Given the description of an element on the screen output the (x, y) to click on. 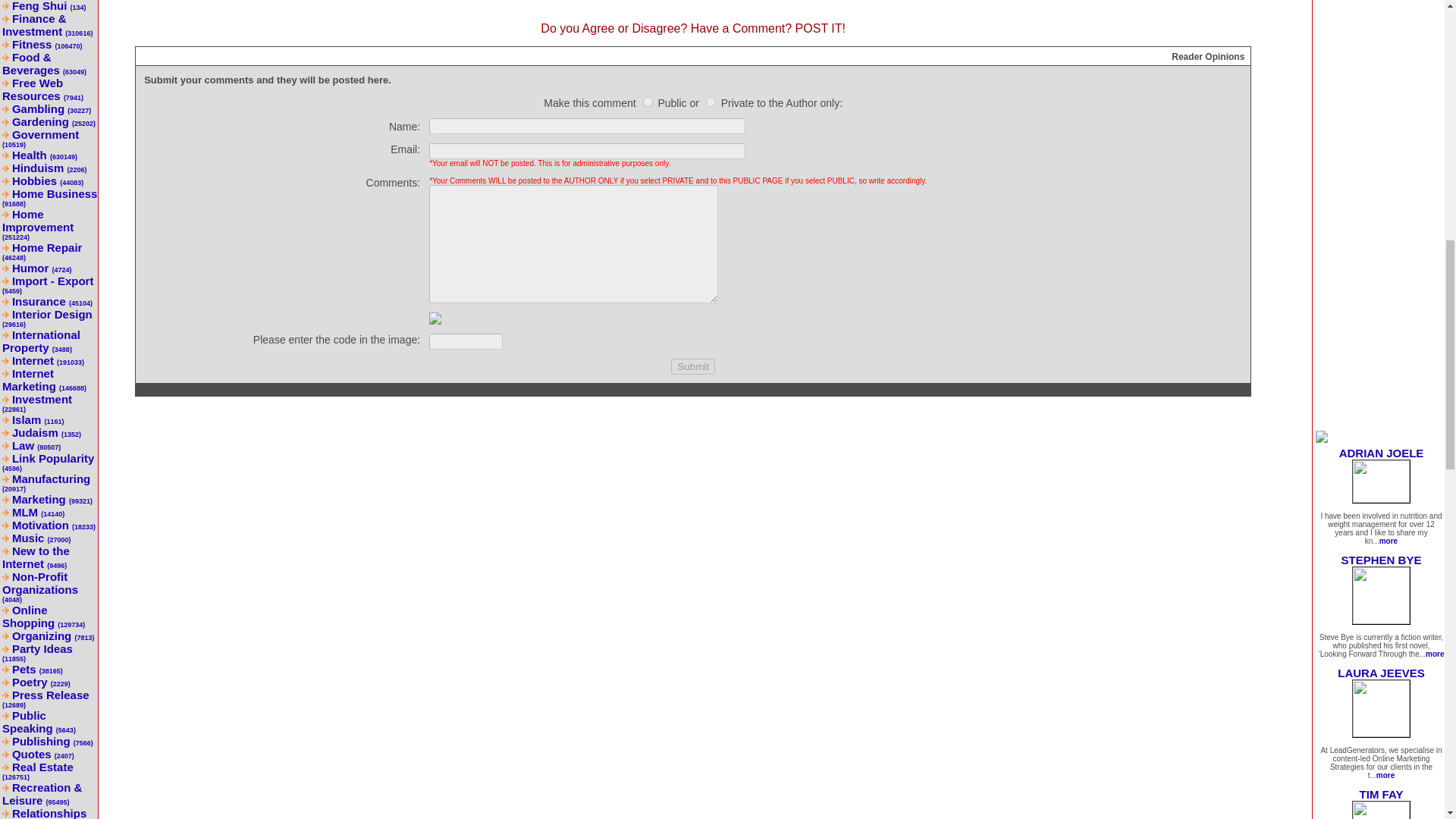
Private (711, 102)
Public (647, 102)
Submit (692, 366)
